Given the description of an element on the screen output the (x, y) to click on. 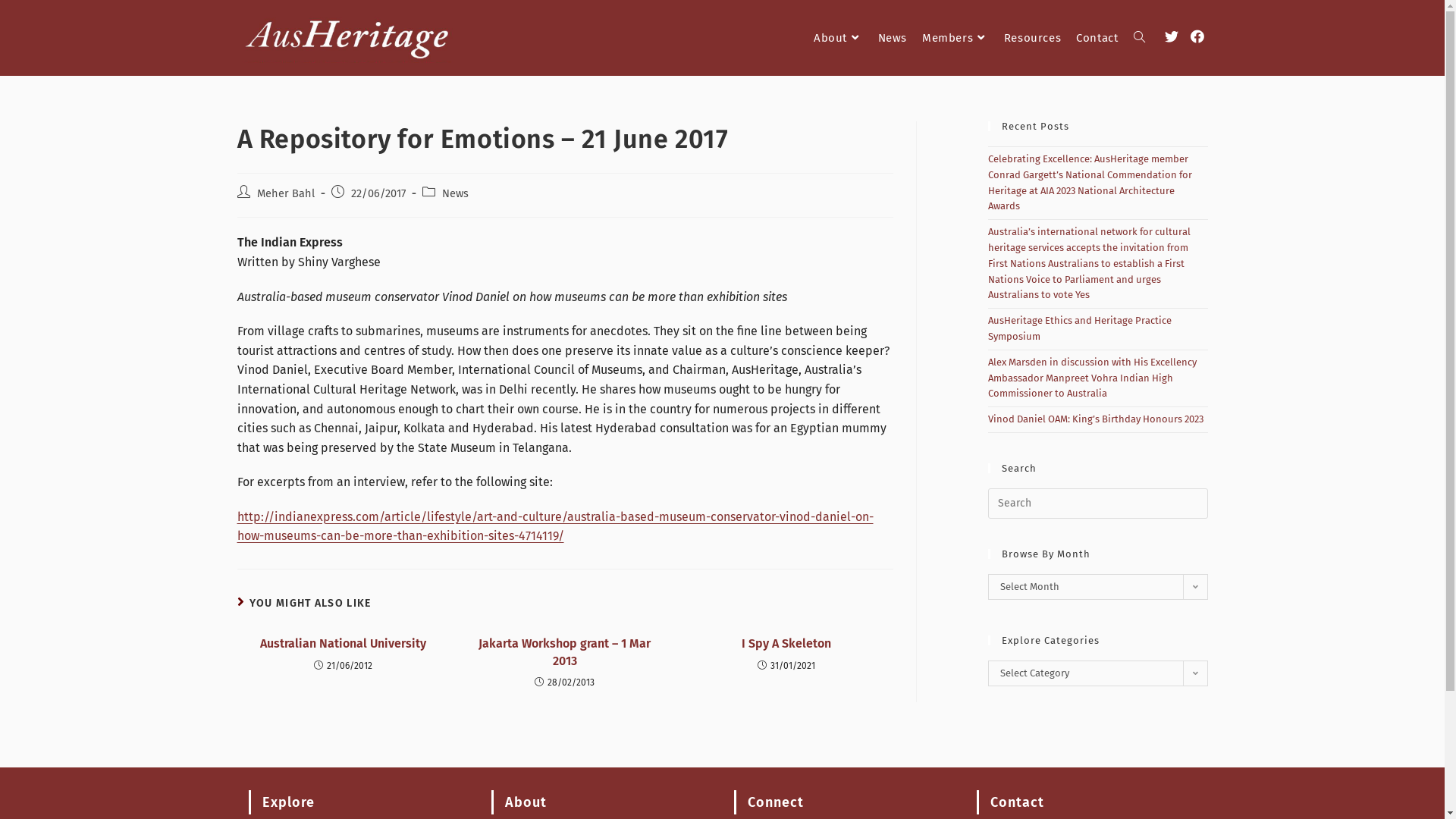
AusHeritage Ethics and Heritage Practice Symposium Element type: text (1078, 328)
Contact Element type: text (1096, 37)
About Element type: text (838, 37)
Australian National University Element type: text (342, 643)
Meher Bahl Element type: text (284, 193)
Resources Element type: text (1032, 37)
I Spy A Skeleton Element type: text (786, 643)
News Element type: text (454, 193)
Members Element type: text (955, 37)
Toggle Website Search Element type: text (1138, 37)
News Element type: text (892, 37)
